Given the description of an element on the screen output the (x, y) to click on. 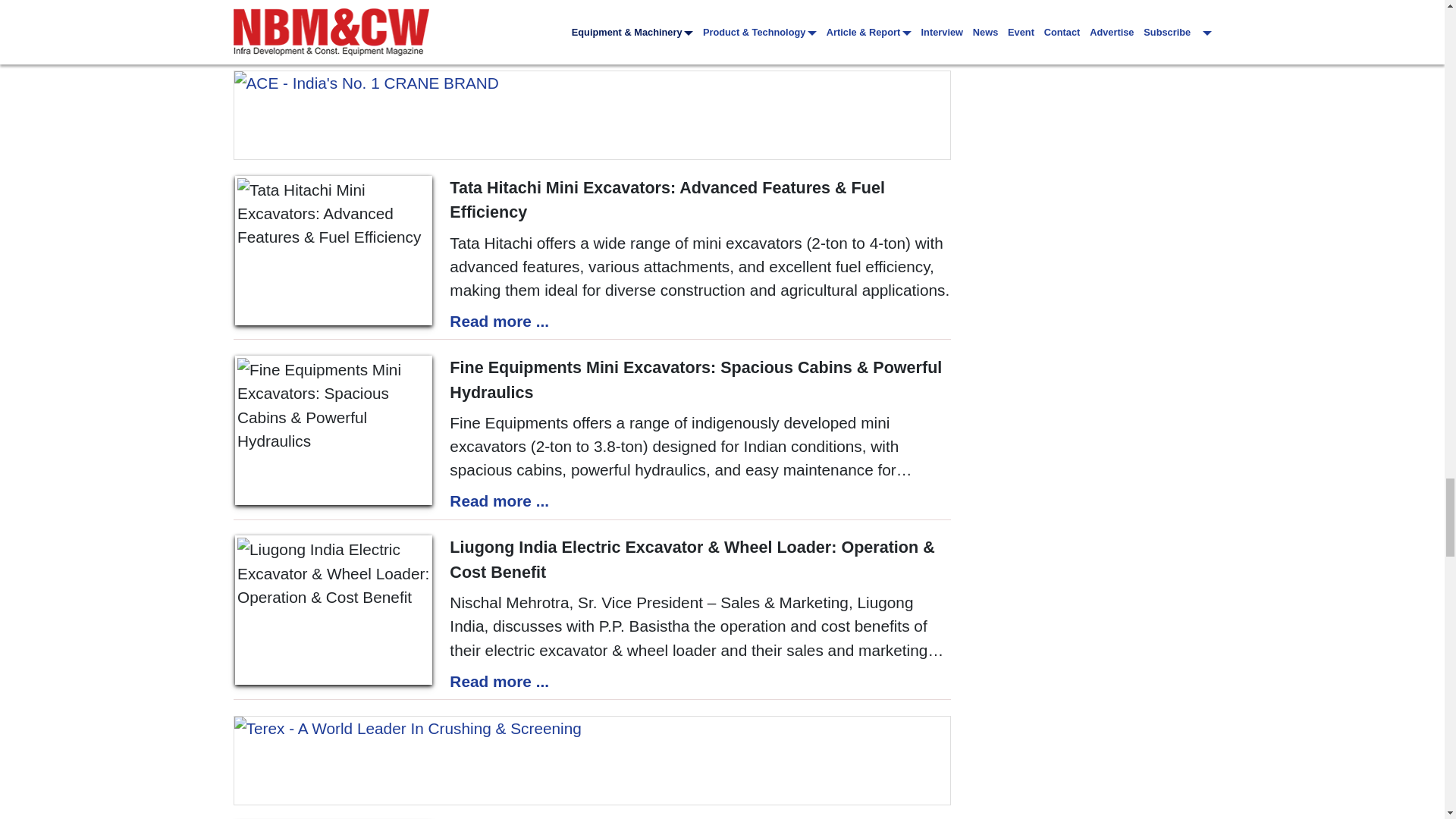
ACE - India's No. 1 CRANE BRAND (591, 114)
